Given the description of an element on the screen output the (x, y) to click on. 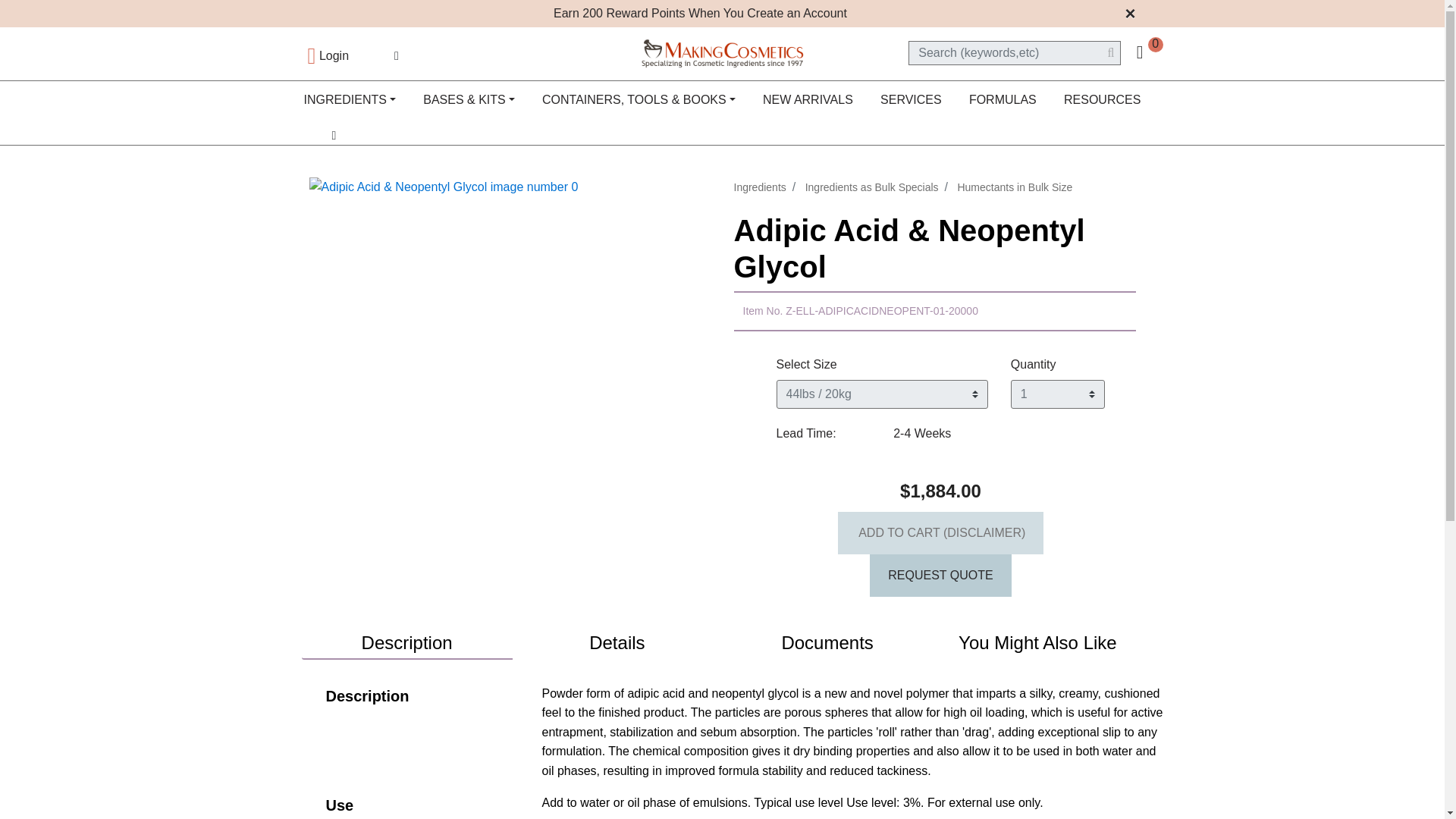
MakingCosmetics Inc. Home (722, 51)
Login (328, 55)
INGREDIENTS (350, 100)
